Given the description of an element on the screen output the (x, y) to click on. 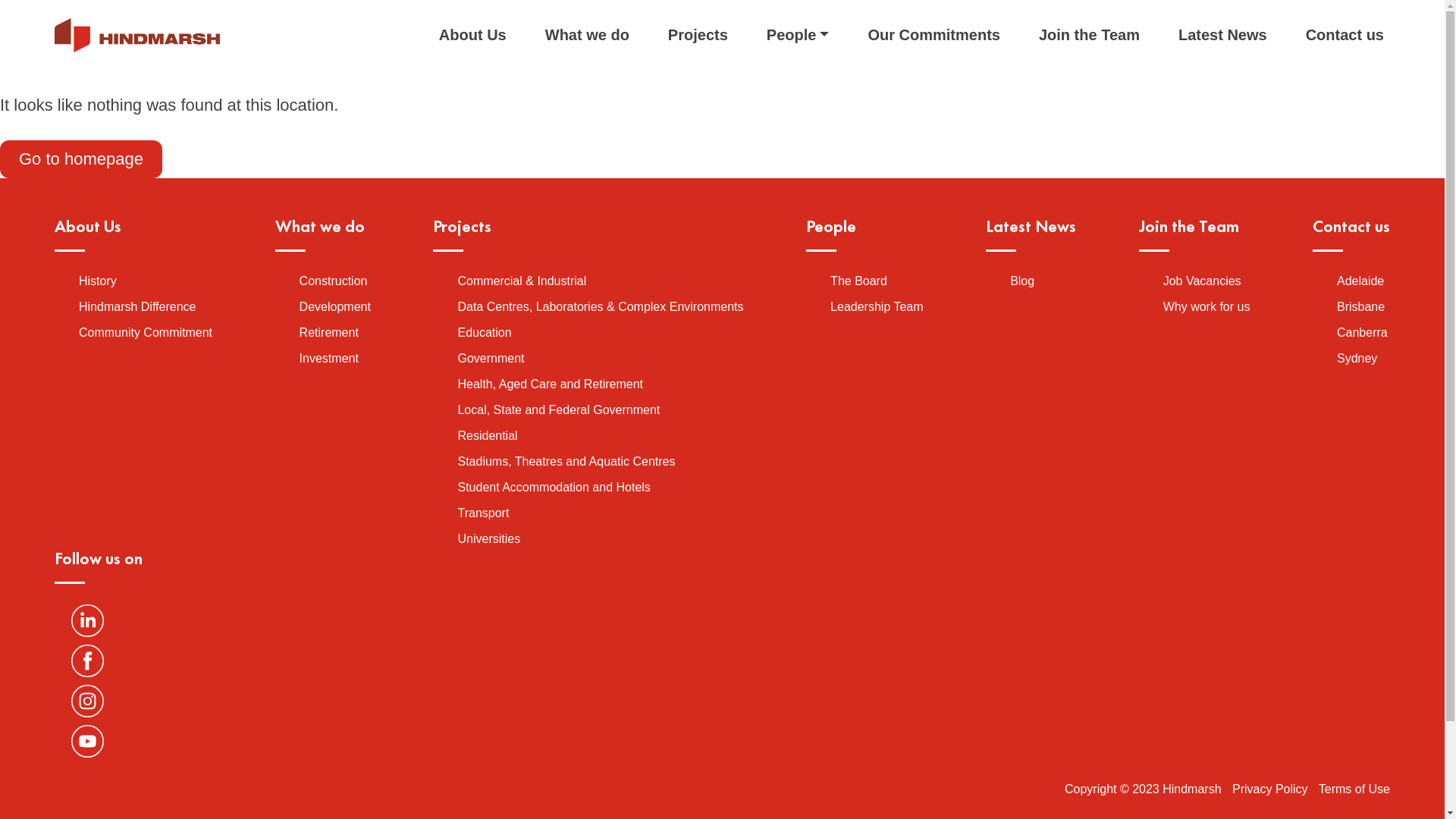
Brisbane Element type: text (1360, 306)
Job Vacancies Element type: text (1202, 280)
Commercial & Industrial Element type: text (521, 280)
Stadiums, Theatres and Aquatic Centres Element type: text (565, 461)
Latest News Element type: text (1222, 34)
Investment Element type: text (328, 357)
Data Centres, Laboratories & Complex Environments Element type: text (600, 306)
Why work for us Element type: text (1206, 306)
Terms of Use Element type: text (1354, 788)
Projects Element type: text (698, 34)
History Element type: text (97, 280)
Go to homepage Element type: text (81, 159)
Community Commitment Element type: text (145, 332)
Development Element type: text (334, 306)
Student Accommodation and Hotels Element type: text (553, 486)
Construction Element type: text (333, 280)
Sydney Element type: text (1356, 357)
Privacy Policy Element type: text (1270, 788)
People Element type: text (797, 34)
Join the Team Element type: text (1088, 34)
Our Commitments Element type: text (933, 34)
Canberra Element type: text (1361, 332)
Construction Element type: text (1008, 97)
What we do Element type: text (587, 34)
Health, Aged Care and Retirement Element type: text (550, 383)
Contact us Element type: text (1344, 34)
Blog Element type: text (1022, 280)
The Board Element type: text (858, 280)
Universities Element type: text (488, 538)
Education Element type: text (484, 332)
Hindmarsh Element type: hover (136, 35)
Transport Element type: text (482, 512)
About Us Element type: text (472, 34)
Hindmarsh Difference Element type: text (136, 306)
Local, State and Federal Government Element type: text (558, 409)
Retirement Element type: text (1243, 97)
Retirement Element type: text (328, 332)
Government Element type: text (490, 357)
Investment Element type: text (1349, 97)
Adelaide Element type: text (1359, 280)
Development Element type: text (1129, 97)
Leadership Team Element type: text (876, 306)
Residential Element type: text (487, 435)
